Given the description of an element on the screen output the (x, y) to click on. 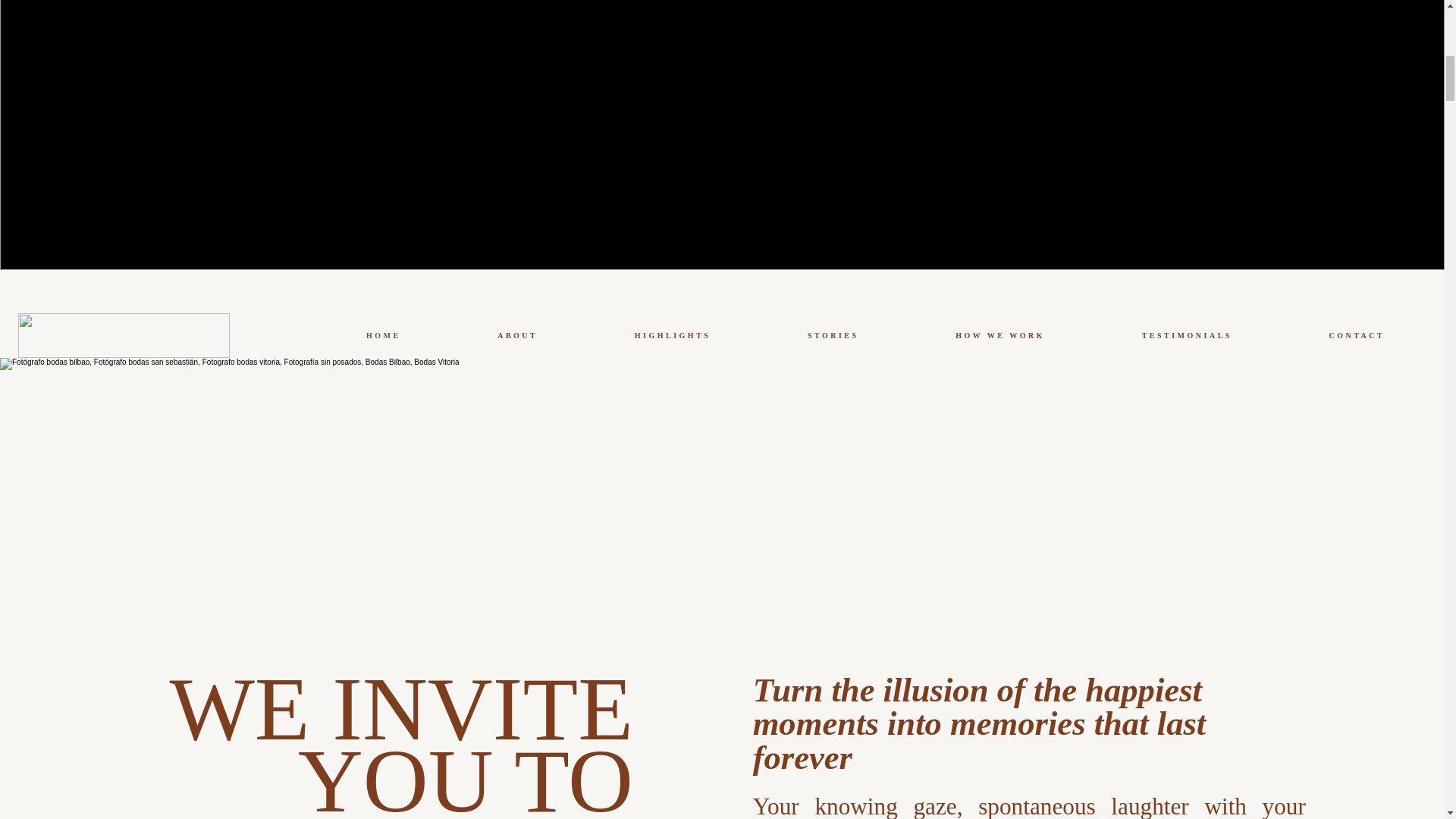
ABOUT (517, 335)
CONTACT (1356, 335)
TESTIMONIALS (1187, 335)
HIGHLIGHTS (672, 335)
HOME (382, 335)
